Given the description of an element on the screen output the (x, y) to click on. 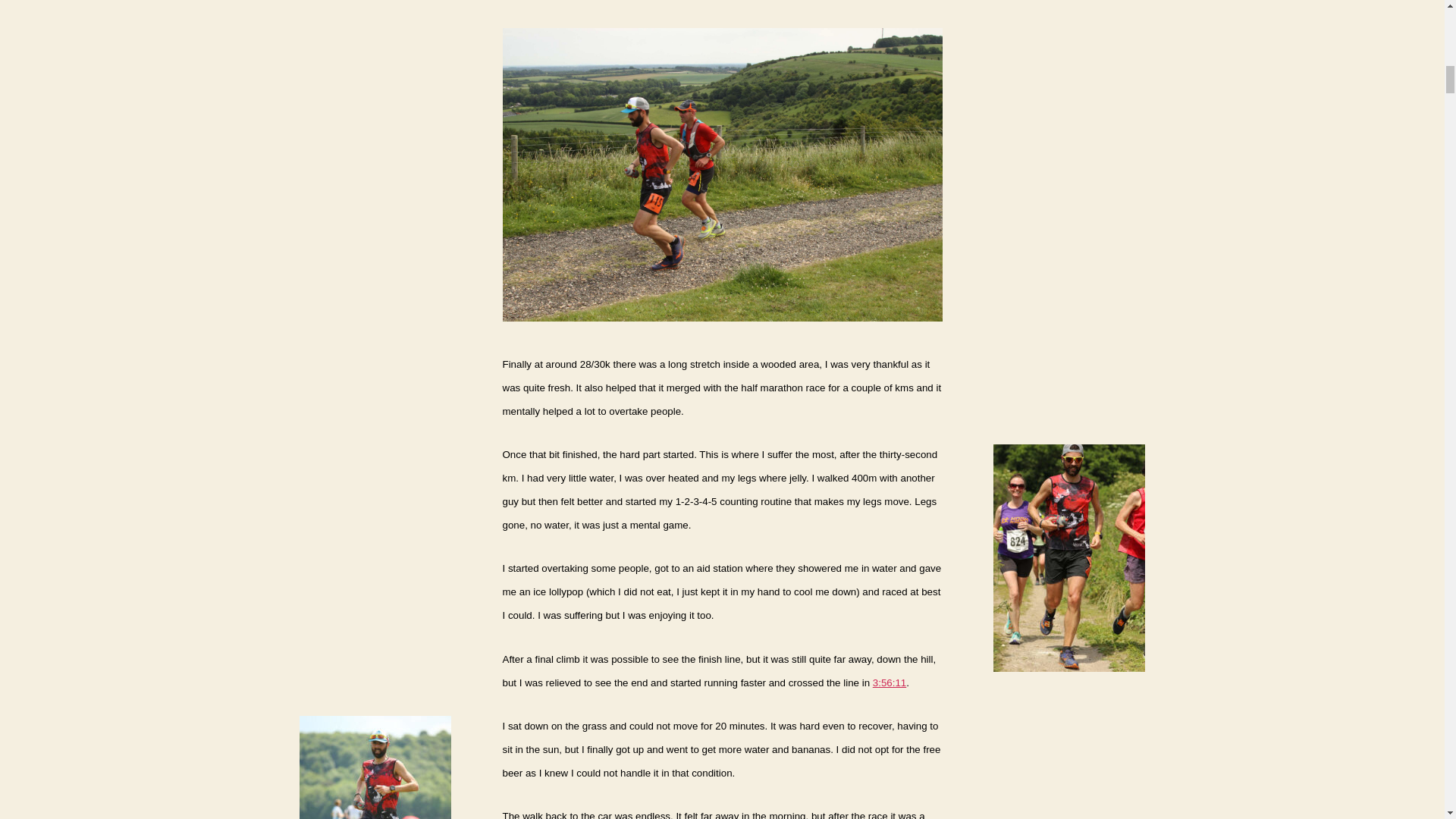
3:56:11 (888, 682)
